Given the description of an element on the screen output the (x, y) to click on. 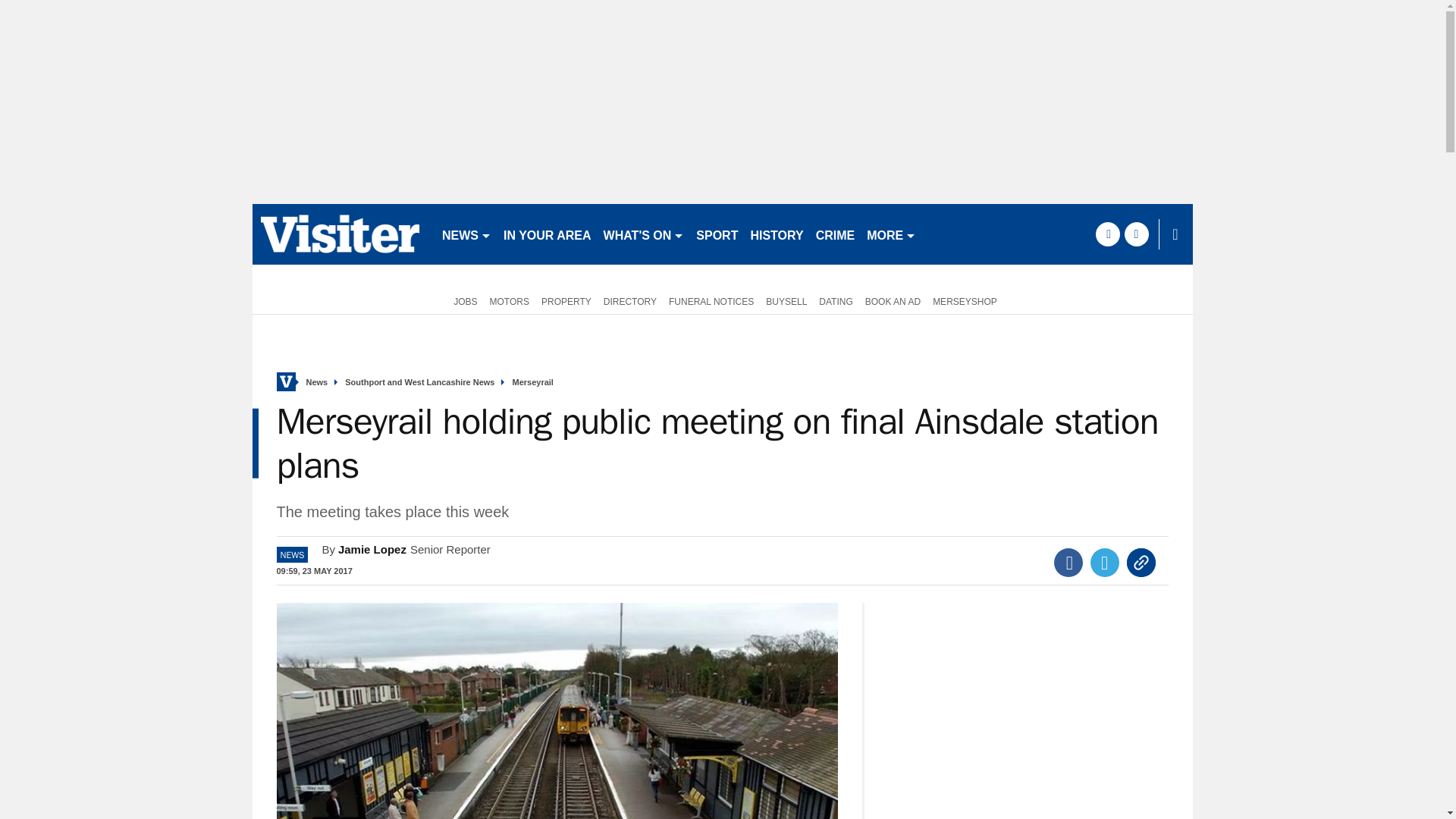
NEWS (466, 233)
FUNERAL NOTICES (711, 300)
BUYSELL (786, 300)
southportvisiter (339, 233)
Twitter (1104, 562)
BOOK AN AD (892, 300)
IN YOUR AREA (546, 233)
DIRECTORY (629, 300)
MERSEYSHOP (964, 300)
facebook (1106, 233)
